Given the description of an element on the screen output the (x, y) to click on. 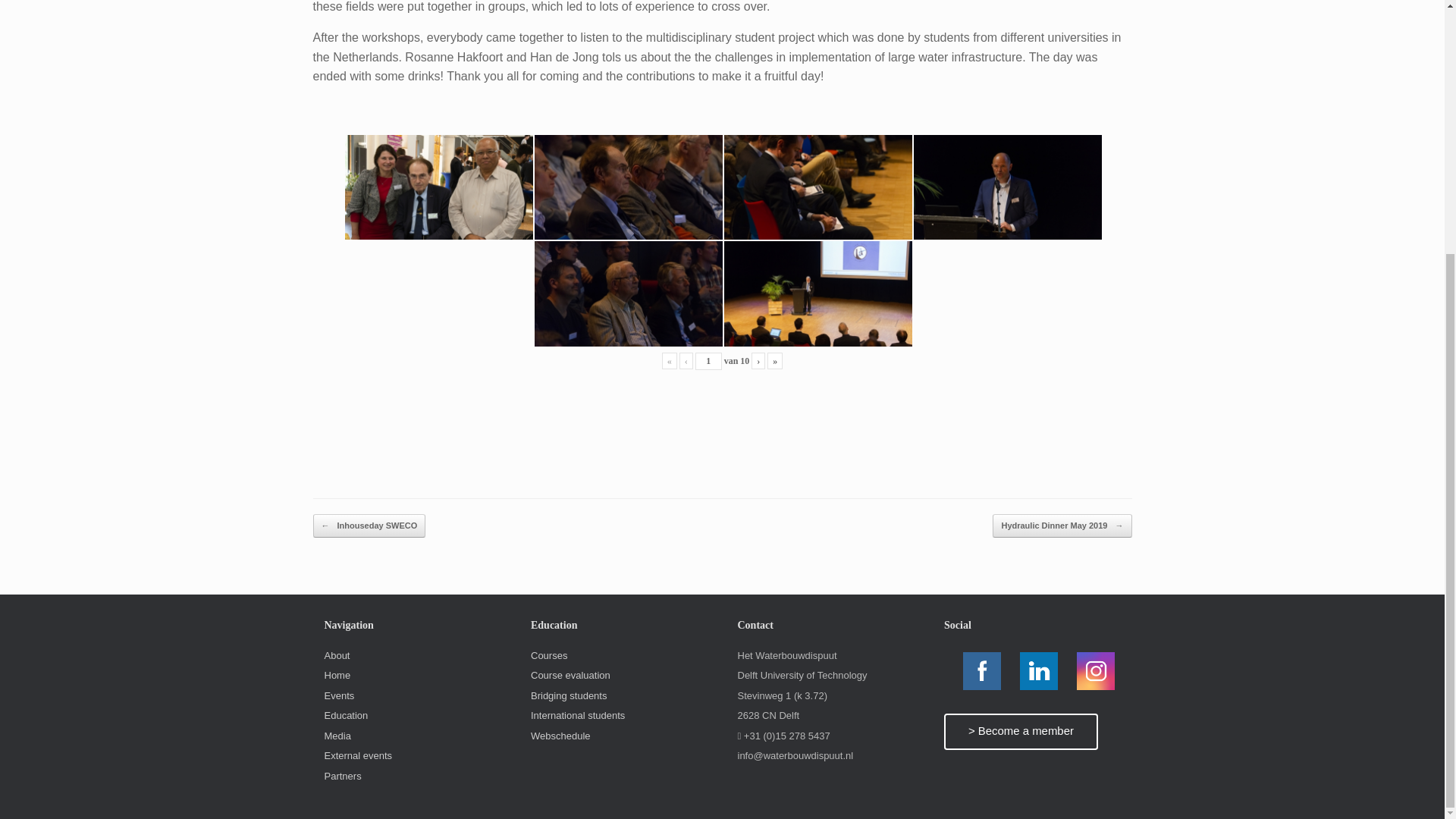
Symposium 2019 (437, 187)
Symposium 2019 (1006, 187)
Ga naar de laatste pagina (775, 360)
Ga naar de eerste pagina (669, 360)
Symposium 2019 (628, 187)
Symposium 2019 (628, 293)
Symposium 2019 (817, 187)
1 (708, 361)
Symposium 2019 (817, 293)
